Given the description of an element on the screen output the (x, y) to click on. 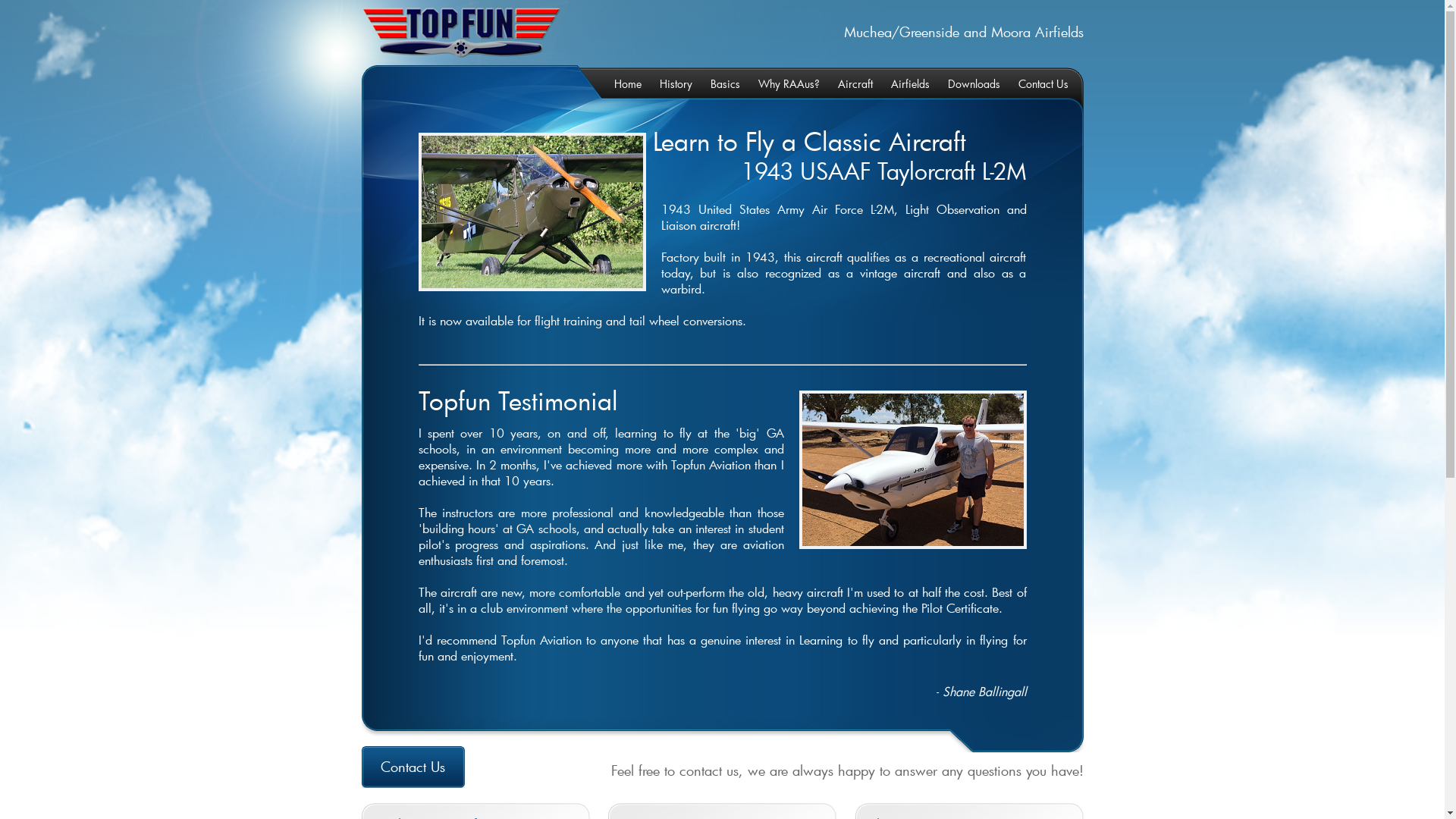
Why RAAus? Element type: text (781, 83)
Airfields Element type: text (901, 83)
Aircraft Element type: text (847, 83)
Contact Us Element type: text (1034, 83)
History Element type: text (668, 83)
Downloads Element type: text (966, 83)
Basics Element type: text (716, 83)
Topfun Testimonial Element type: text (518, 400)
1943 USAAF Taylorcraft L-2M Element type: text (883, 170)
Contact Us Element type: text (415, 766)
Learn to Fly a Classic Aircraft Element type: text (808, 141)
Home Element type: text (620, 83)
